Given the description of an element on the screen output the (x, y) to click on. 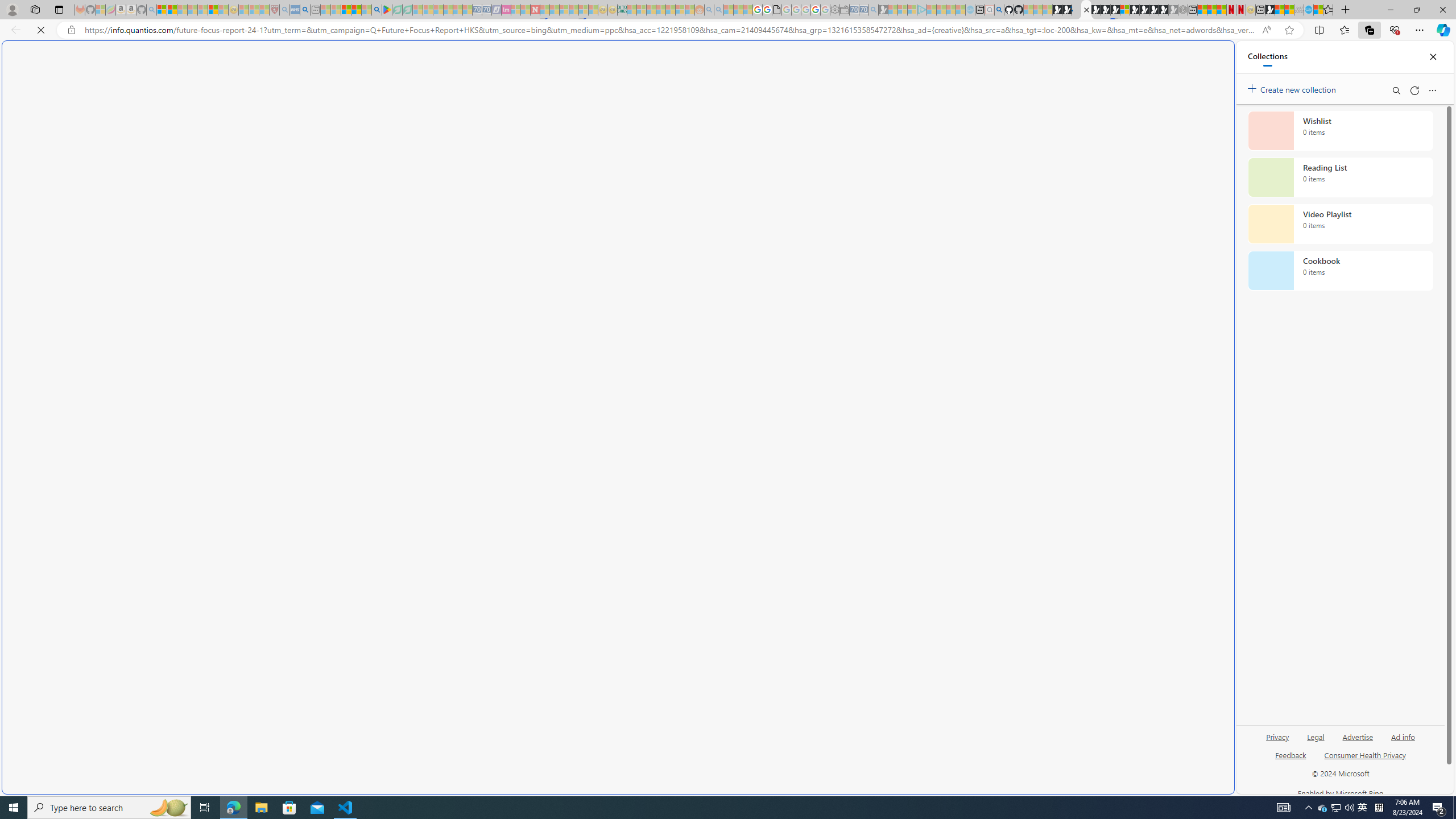
Cookbook collection, 0 items (1339, 270)
